Given the description of an element on the screen output the (x, y) to click on. 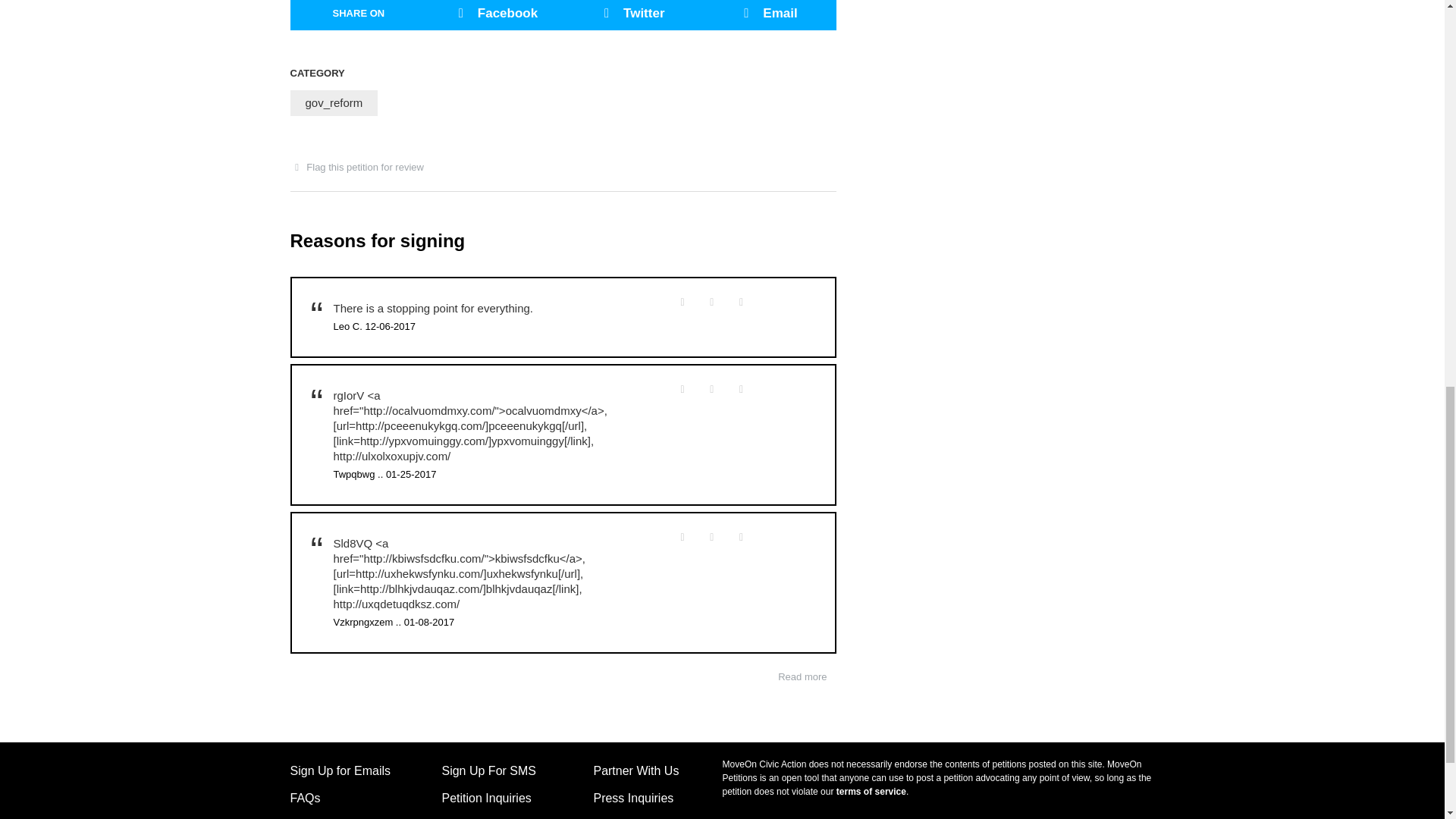
Flag as Inappropriate (711, 389)
Like This (682, 389)
Share via Email (766, 15)
Like This (682, 302)
Share on Facebook (494, 15)
Permalink (741, 300)
Flag this petition for review (360, 167)
Share on Twitter (631, 15)
Flag as Inappropriate (711, 302)
Facebook (494, 15)
Twitter (631, 15)
Email (766, 15)
